Given the description of an element on the screen output the (x, y) to click on. 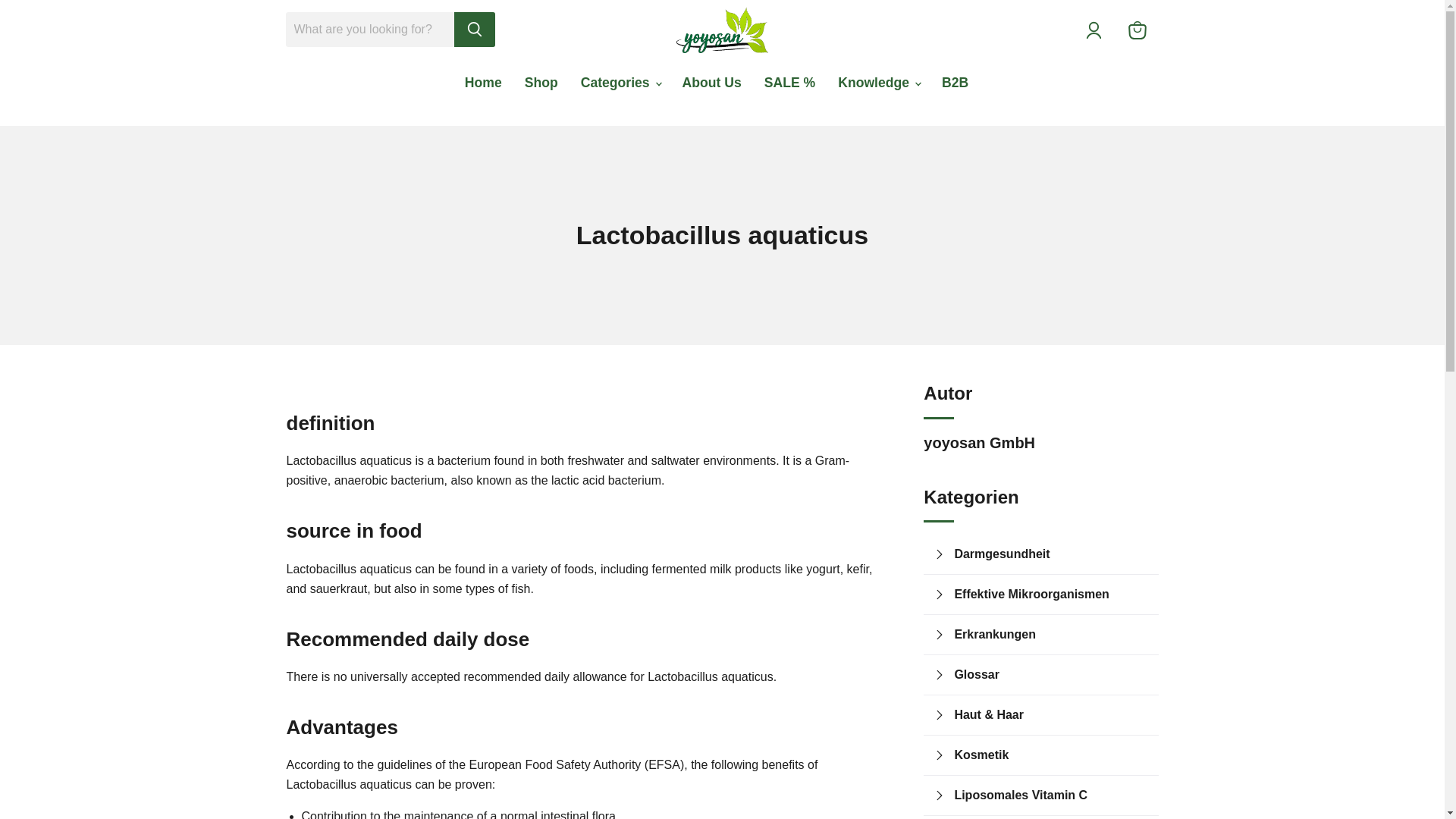
Show articles tagged Effektive Mikroorganismen (1050, 594)
Show articles tagged darmgesundheit (1050, 554)
Home (482, 82)
Show articles tagged Erkrankungen (1050, 634)
Shop (541, 82)
View cart (1137, 29)
Show articles tagged glossar (1050, 674)
Show articles tagged Kosmetik (1050, 754)
B2B (954, 82)
Show articles tagged Liposomales Vitamin C (1050, 794)
